Given the description of an element on the screen output the (x, y) to click on. 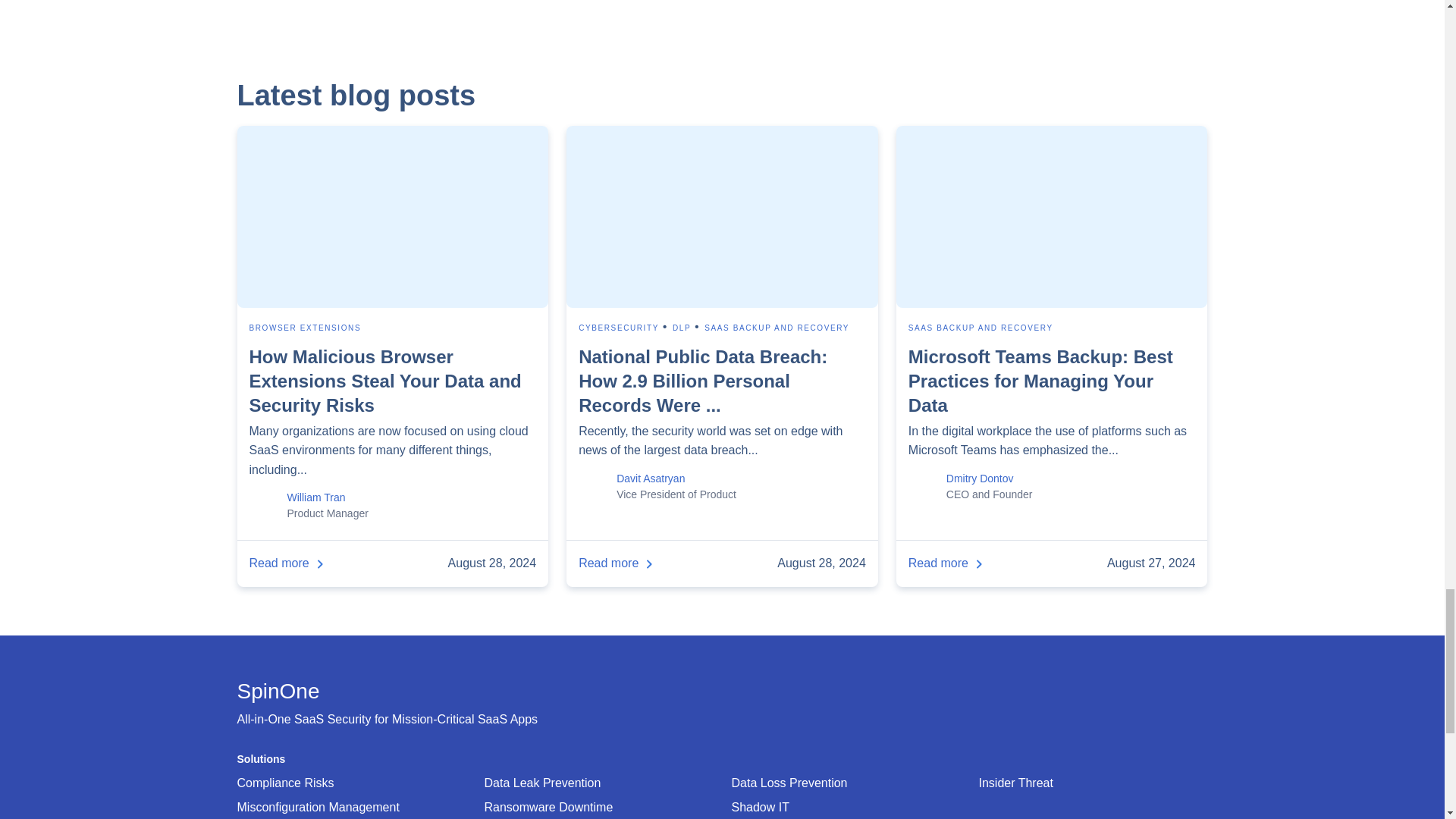
Posts by Davit Asatryan (649, 478)
Posts by William Tran (315, 497)
Posts by Dmitry Dontov (979, 478)
